Given the description of an element on the screen output the (x, y) to click on. 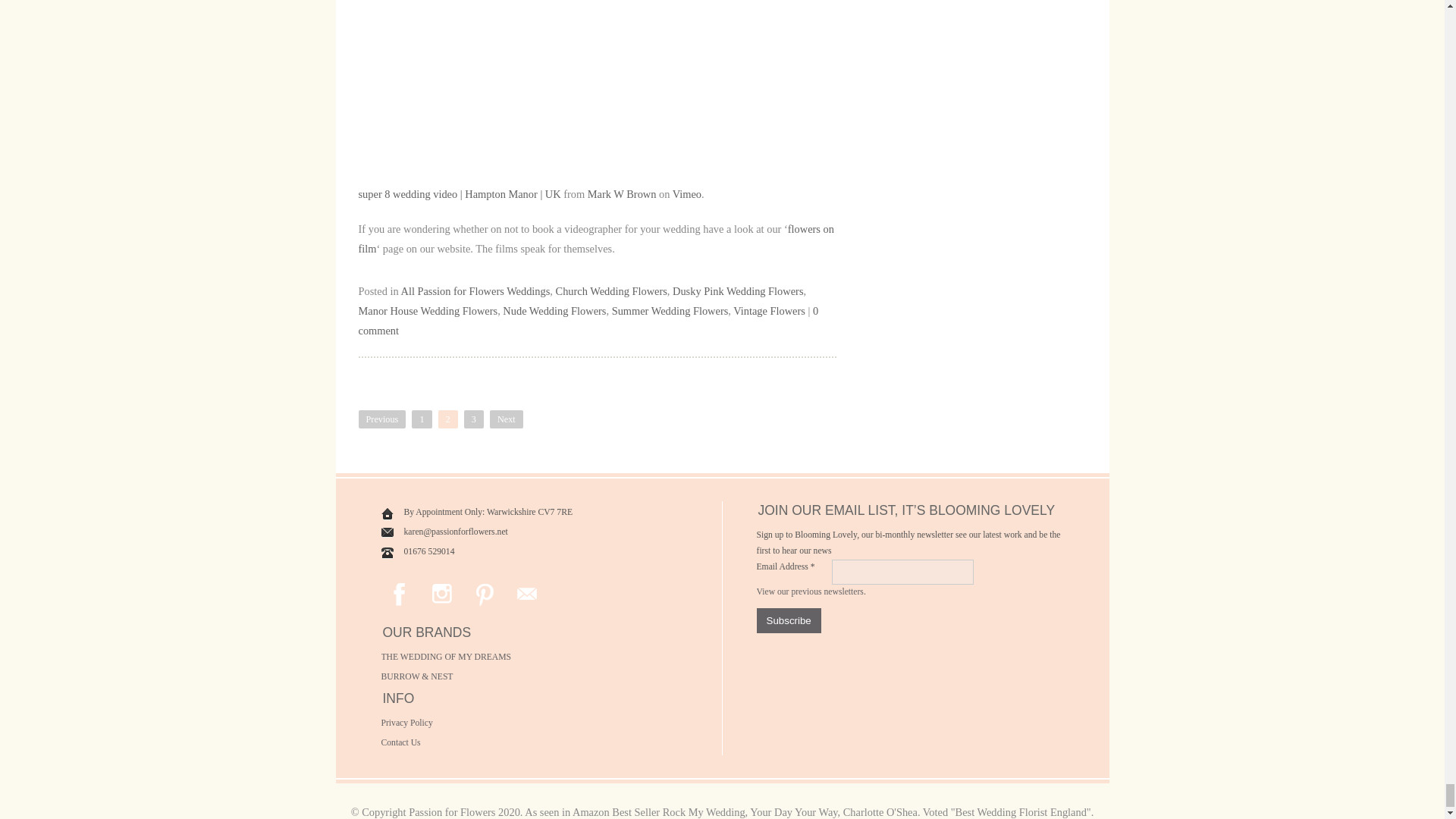
Subscribe (789, 620)
